Given the description of an element on the screen output the (x, y) to click on. 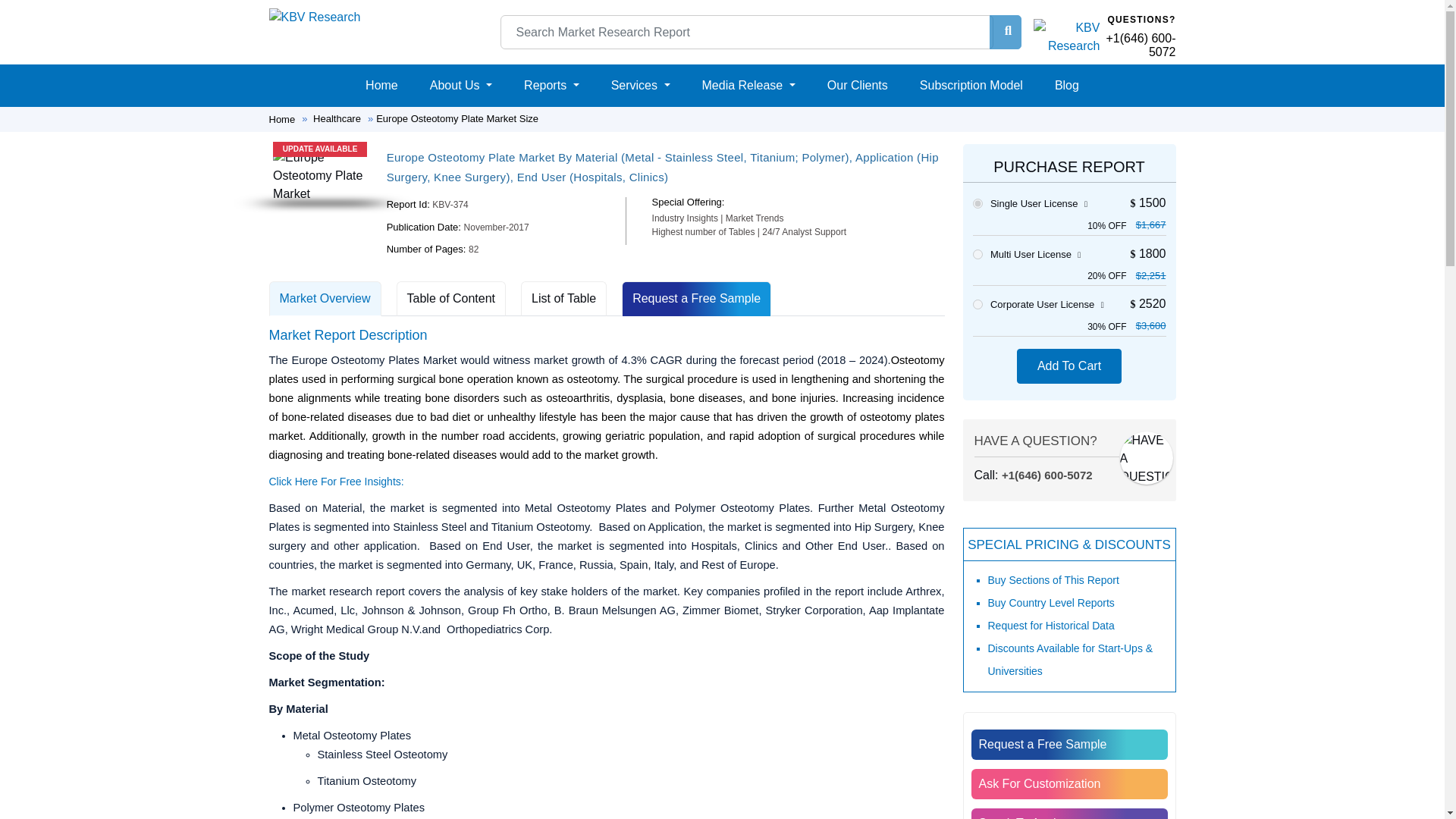
2520 (976, 304)
KBV Research (313, 17)
Media Release (748, 85)
Subscription Model (971, 85)
Home (381, 85)
Services (641, 85)
1500 (976, 203)
About Us (460, 85)
Blog (1066, 85)
1800 (976, 254)
Reports (551, 85)
Our Clients (857, 85)
Europe Osteotomy Plate Market (319, 175)
